Given the description of an element on the screen output the (x, y) to click on. 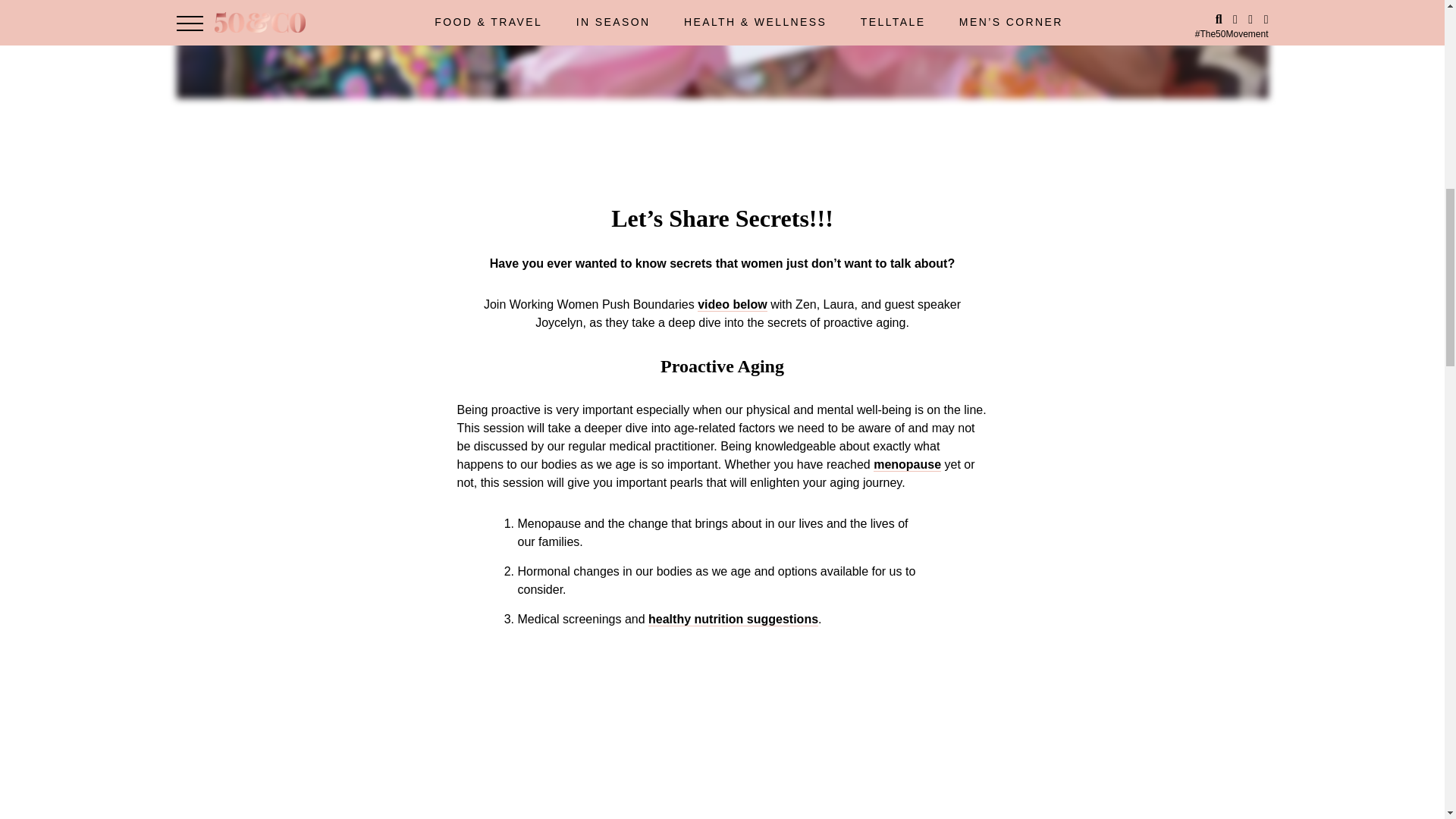
video below (732, 305)
menopause (906, 464)
healthy nutrition suggestions (732, 619)
